Given the description of an element on the screen output the (x, y) to click on. 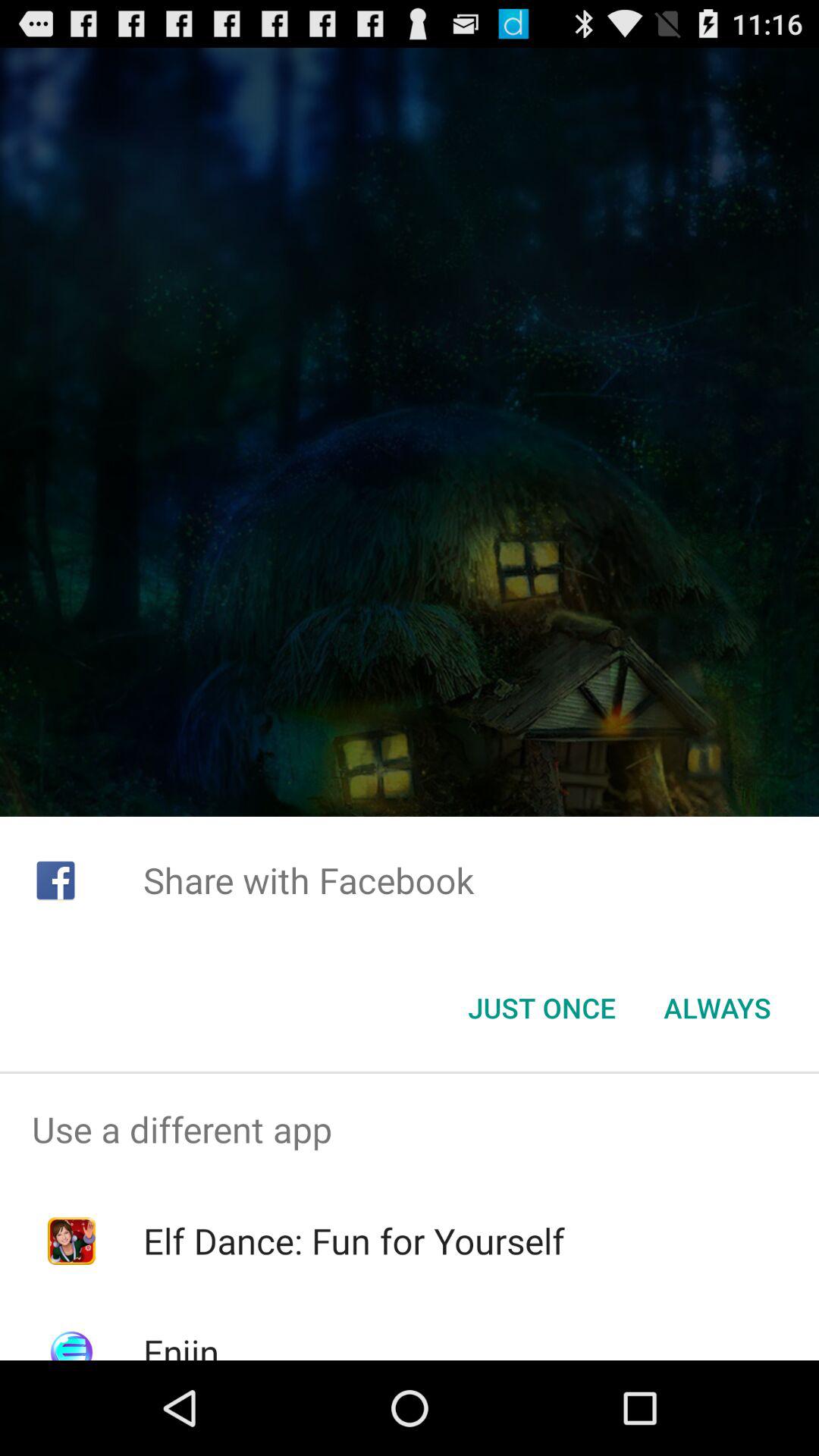
click item above elf dance fun app (409, 1129)
